Given the description of an element on the screen output the (x, y) to click on. 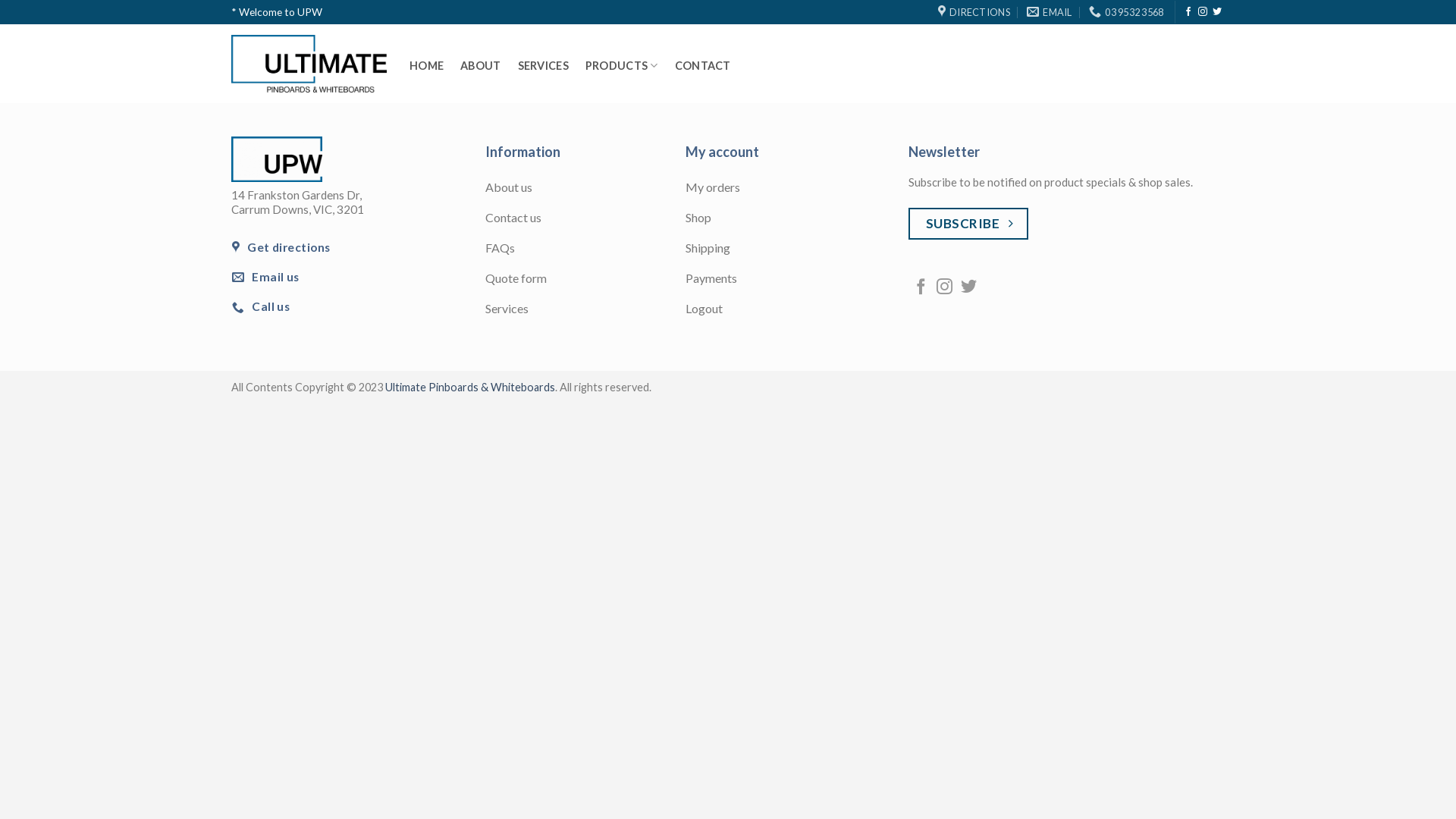
Services Element type: text (585, 309)
Follow on Facebook Element type: hover (1187, 11)
SUBSCRIBE Element type: text (968, 223)
EMAIL Element type: text (1049, 11)
Logout Element type: text (785, 309)
About us Element type: text (585, 188)
HOME Element type: text (426, 65)
Follow on Instagram Element type: hover (944, 287)
Shipping Element type: text (785, 249)
Email us Element type: text (266, 276)
Follow on Twitter Element type: hover (1216, 11)
Call us Element type: text (261, 306)
Shop Element type: text (785, 218)
PRODUCTS Element type: text (621, 65)
Payments Element type: text (785, 279)
Contact us Element type: text (585, 218)
ABOUT Element type: text (480, 65)
DIRECTIONS Element type: text (974, 11)
CONTACT Element type: text (702, 65)
Follow on Instagram Element type: hover (1202, 11)
Ultimate Pinboards & Whiteboards Element type: text (470, 386)
Follow on Twitter Element type: hover (968, 287)
Follow on Facebook Element type: hover (920, 287)
Get directions Element type: text (281, 247)
Quote form Element type: text (585, 279)
My orders Element type: text (785, 188)
SERVICES Element type: text (542, 65)
03 9532 3568 Element type: text (1125, 11)
FAQs Element type: text (585, 249)
